Given the description of an element on the screen output the (x, y) to click on. 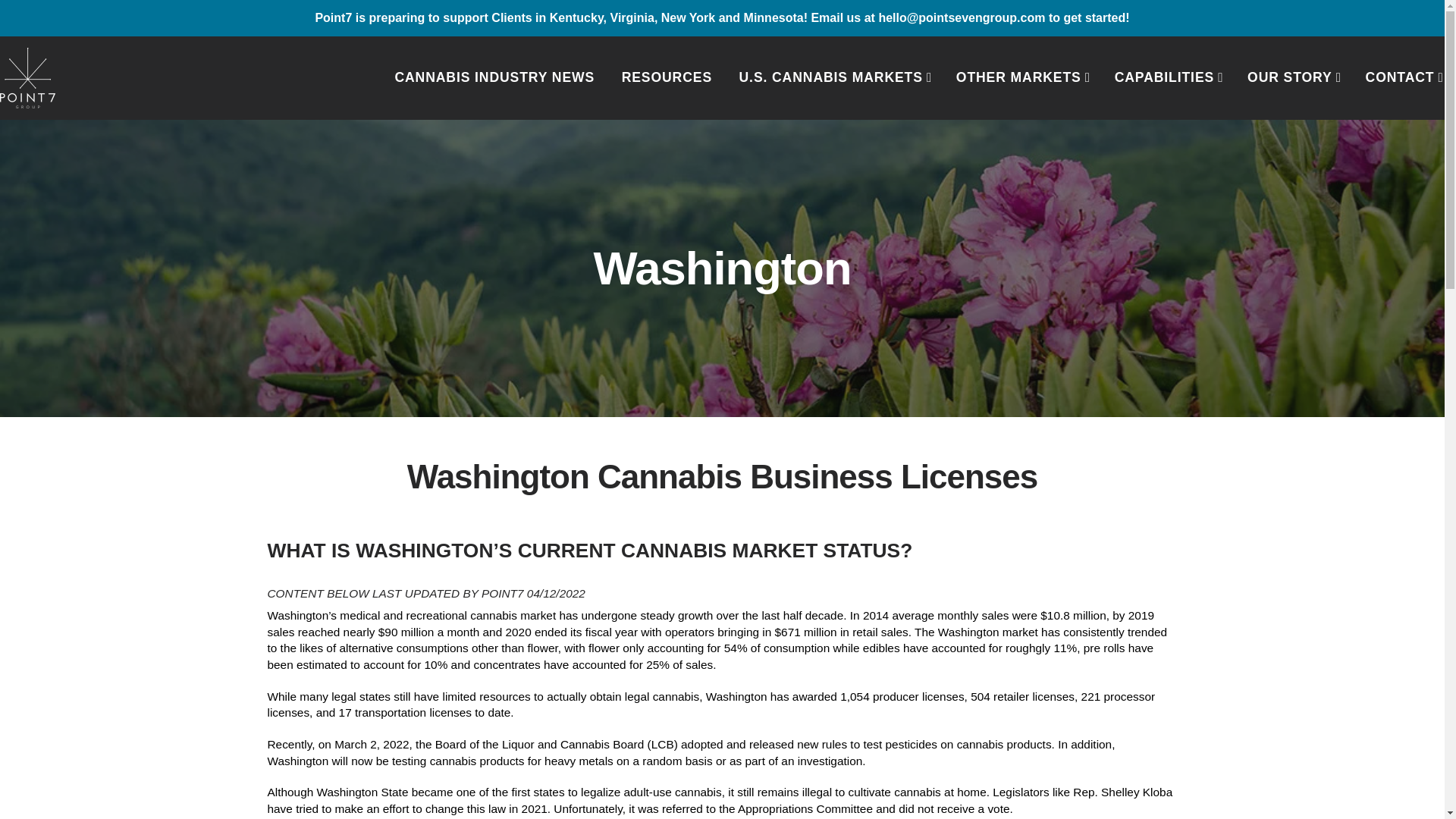
RESOURCES (666, 77)
Email us at (842, 17)
CANNABIS INDUSTRY NEWS (493, 77)
U.S. CANNABIS MARKETS (834, 77)
OTHER MARKETS (1021, 77)
CONTACT (1402, 77)
CAPABILITIES (1167, 77)
OUR STORY (1291, 77)
